Given the description of an element on the screen output the (x, y) to click on. 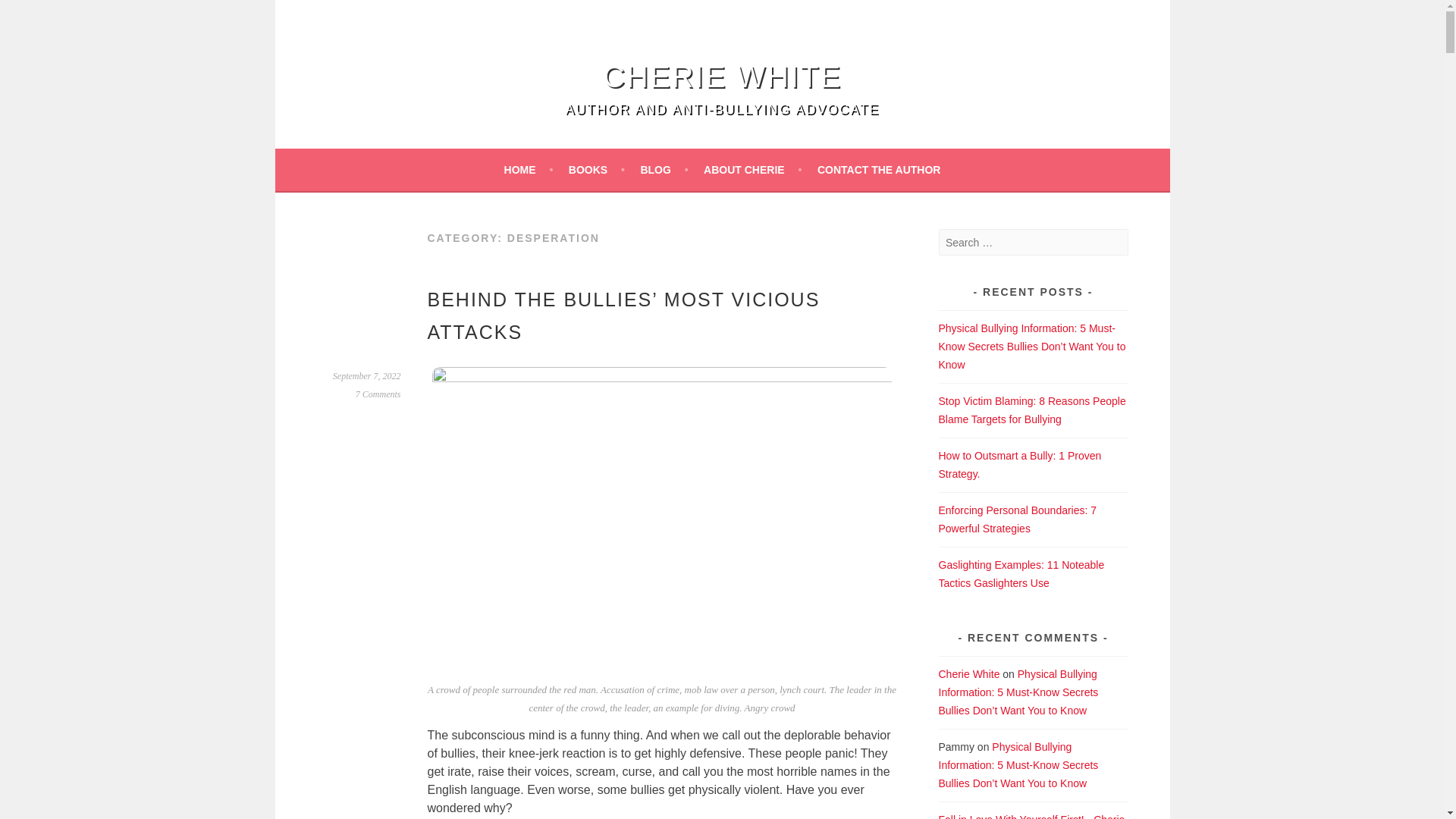
Gaslighting Examples: 11 Noteable Tactics Gaslighters Use (1022, 573)
Enforcing Personal Boundaries: 7 Powerful Strategies (1018, 519)
Cherie White (721, 76)
Search (30, 13)
7 Comments (378, 394)
BOOKS (596, 169)
CONTACT THE AUTHOR (878, 169)
September 7, 2022 (367, 376)
BLOG (663, 169)
